Given the description of an element on the screen output the (x, y) to click on. 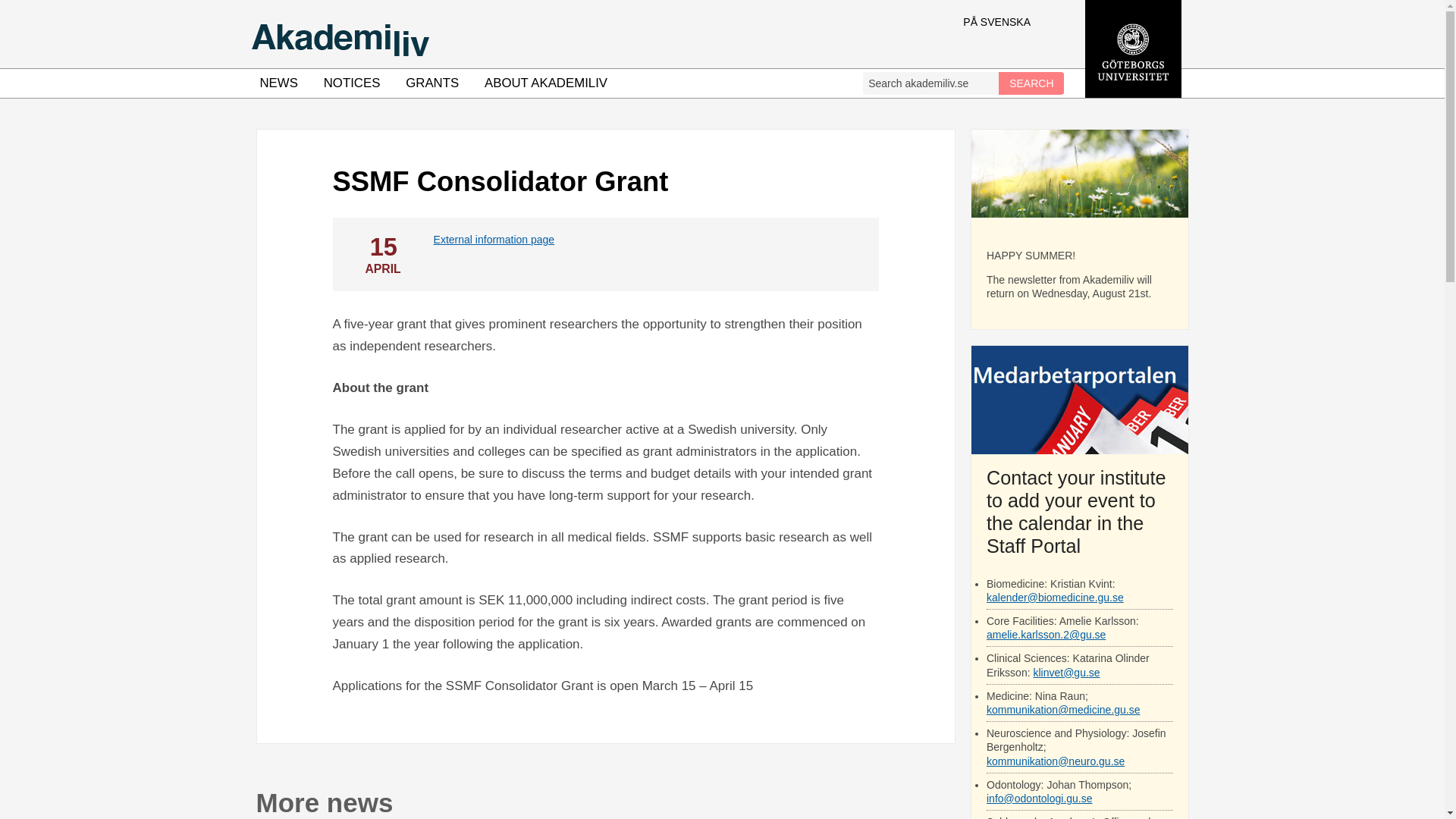
NEWS (278, 82)
Search (1031, 83)
Akademiliv (564, 33)
University of Gothenburg (1132, 93)
NOTICES (352, 82)
ABOUT AKADEMILIV (545, 82)
2024-04-15 (381, 254)
GRANTS (432, 82)
Search (1031, 83)
Search (1031, 83)
